Given the description of an element on the screen output the (x, y) to click on. 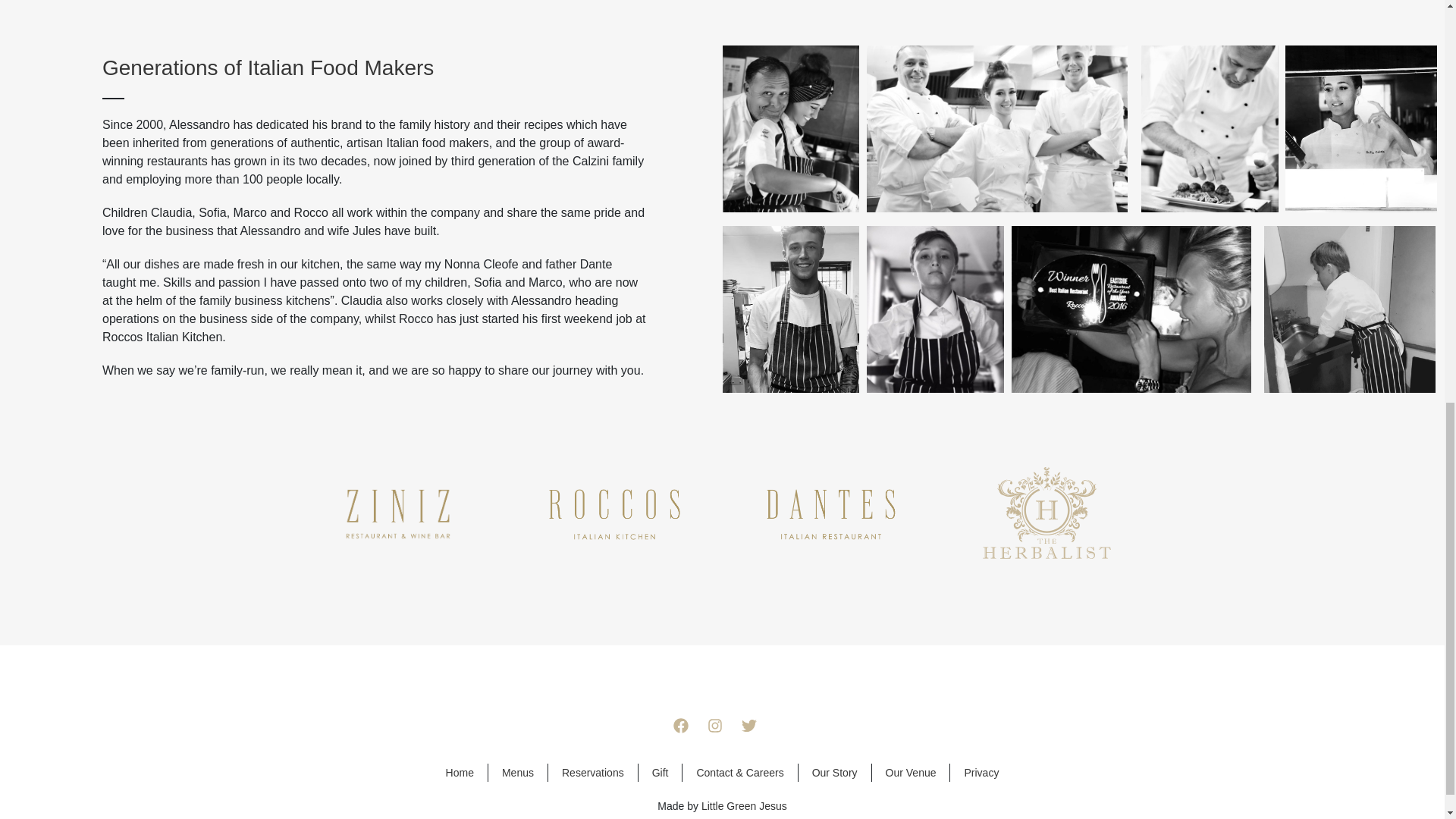
Little Green Jesus (744, 806)
Home (459, 772)
Privacy (980, 772)
Our Venue (910, 772)
Menus (518, 772)
Our Story (834, 772)
Reservations (593, 772)
Gift (660, 772)
